Given the description of an element on the screen output the (x, y) to click on. 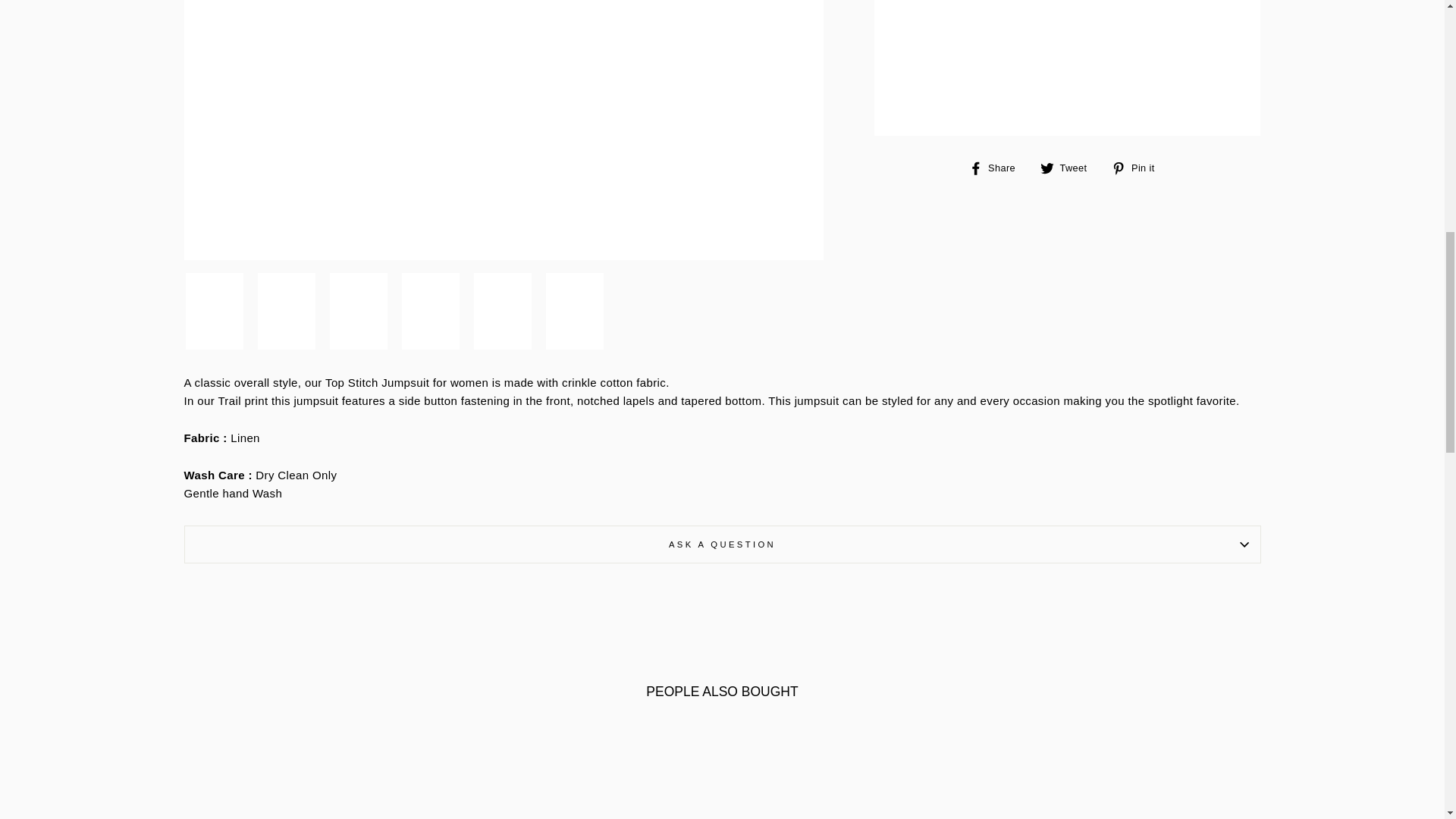
Share on Facebook (997, 167)
Tweet on Twitter (1069, 167)
Pin on Pinterest (1139, 167)
